Given the description of an element on the screen output the (x, y) to click on. 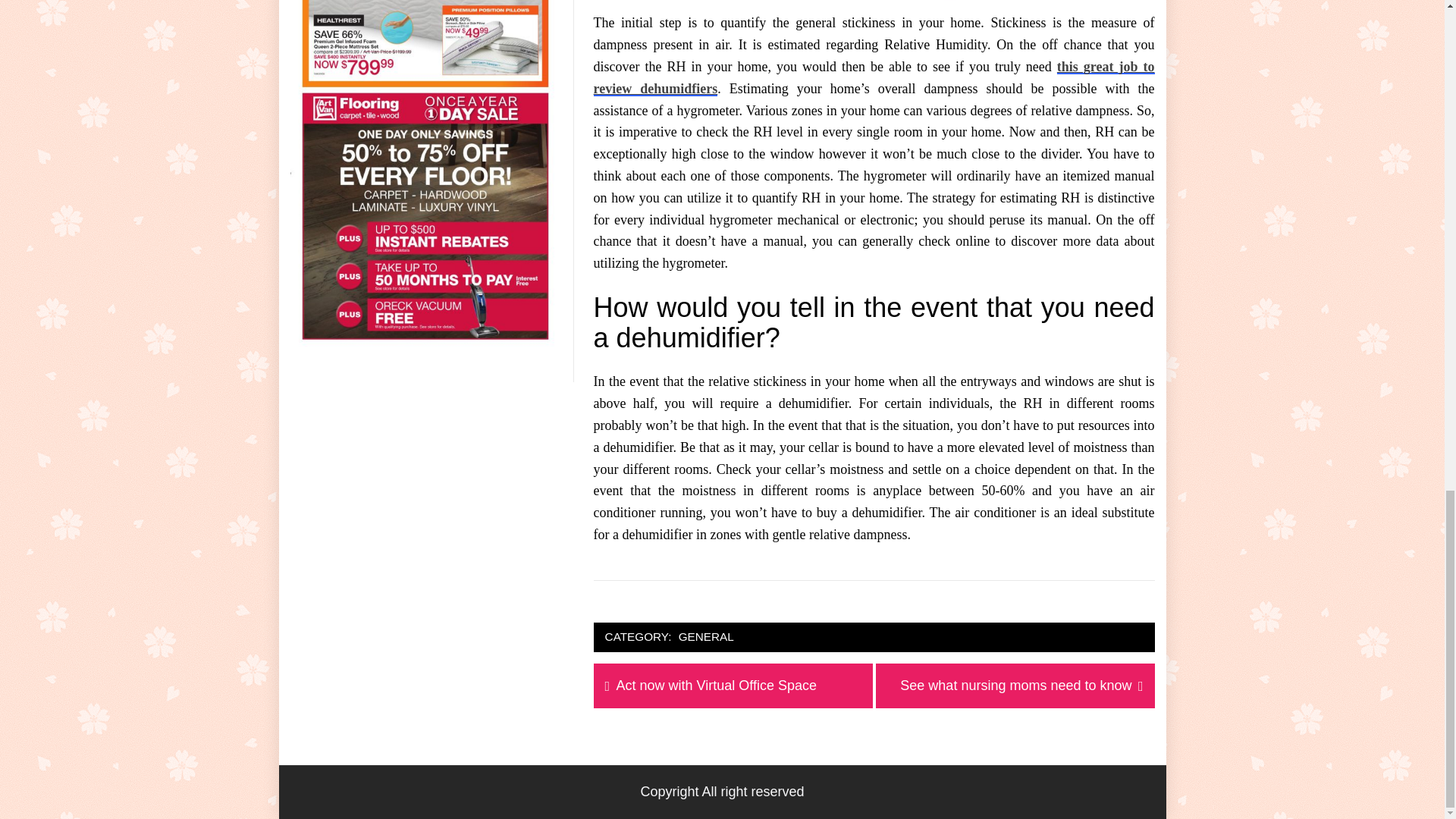
GENERAL (1015, 685)
this great job to review dehumidfiers (706, 637)
